Given the description of an element on the screen output the (x, y) to click on. 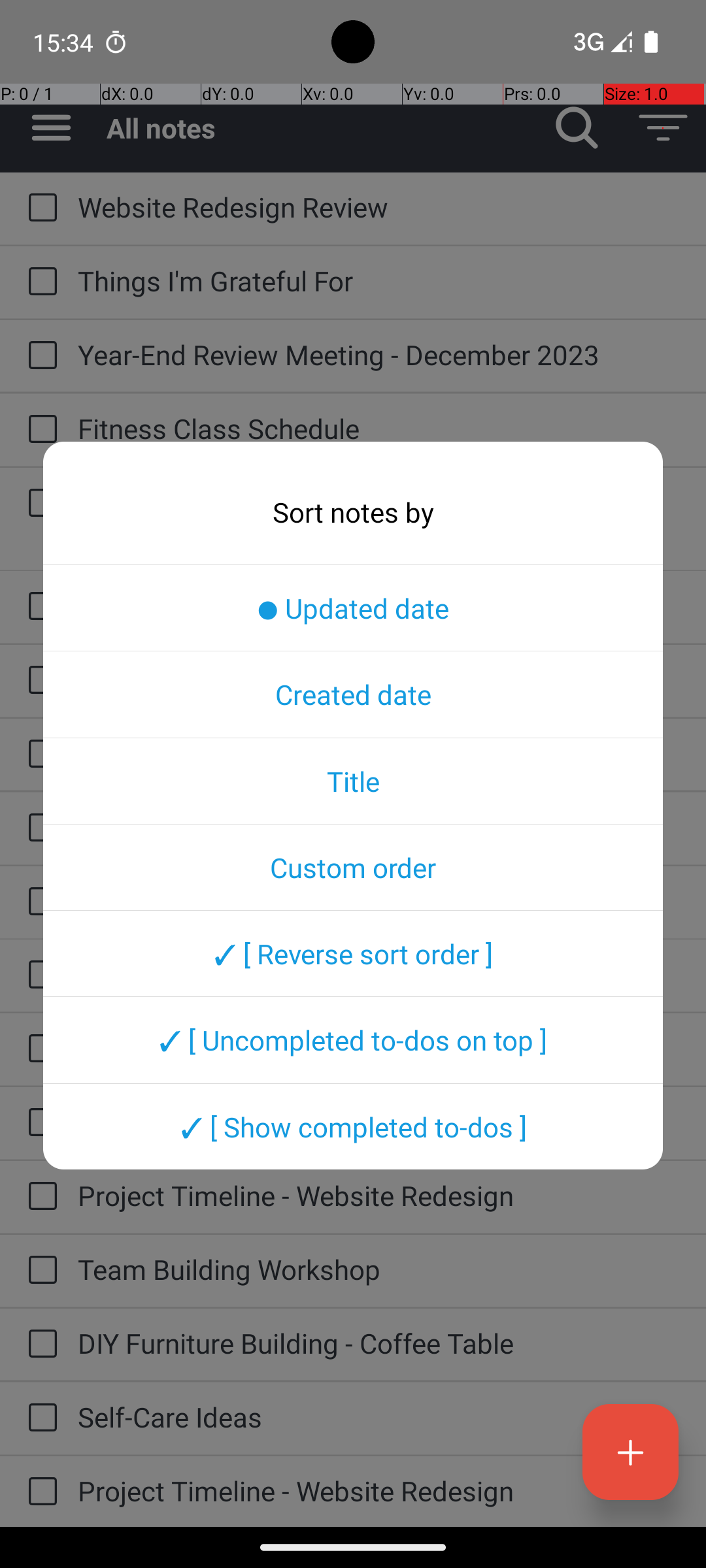
⬤ Updated date Element type: android.widget.TextView (352, 607)
Created date Element type: android.widget.TextView (352, 693)
Custom order Element type: android.widget.TextView (352, 866)
✓ [ Reverse sort order ] Element type: android.widget.TextView (352, 953)
✓ [ Uncompleted to-dos on top ] Element type: android.widget.TextView (352, 1039)
✓ [ Show completed to-dos ] Element type: android.widget.TextView (352, 1126)
to-do: Website Redesign Review Element type: android.widget.CheckBox (38, 208)
Website Redesign Review Element type: android.widget.TextView (378, 206)
to-do: Things I'm Grateful For Element type: android.widget.CheckBox (38, 282)
Things I'm Grateful For Element type: android.widget.TextView (378, 280)
to-do: Year-End Review Meeting - December 2023 Element type: android.widget.CheckBox (38, 356)
Year-End Review Meeting - December 2023 Element type: android.widget.TextView (378, 354)
to-do: Art Installation - Public Sculpture Element type: android.widget.CheckBox (38, 606)
Art Installation - Public Sculpture Element type: android.widget.TextView (378, 604)
to-do: Project Kickoff Element type: android.widget.CheckBox (38, 680)
Project Kickoff Element type: android.widget.TextView (378, 678)
to-do: Beef Stir-Fry Element type: android.widget.CheckBox (38, 754)
Beef Stir-Fry Element type: android.widget.TextView (378, 752)
to-do: Client Project Update Element type: android.widget.CheckBox (38, 902)
Client Project Update Element type: android.widget.TextView (378, 900)
to-do: Renew Driver's License Element type: android.widget.CheckBox (38, 1049)
to-do: Photography Portfolio Website Element type: android.widget.CheckBox (38, 1123)
Photography Portfolio Website Element type: android.widget.TextView (378, 1121)
to-do: Team Building Workshop Element type: android.widget.CheckBox (38, 1270)
Team Building Workshop Element type: android.widget.TextView (378, 1268)
to-do: DIY Furniture Building - Coffee Table Element type: android.widget.CheckBox (38, 1344)
DIY Furniture Building - Coffee Table Element type: android.widget.TextView (378, 1342)
to-do: Self-Care Ideas Element type: android.widget.CheckBox (38, 1418)
Self-Care Ideas Element type: android.widget.TextView (378, 1416)
